Given the description of an element on the screen output the (x, y) to click on. 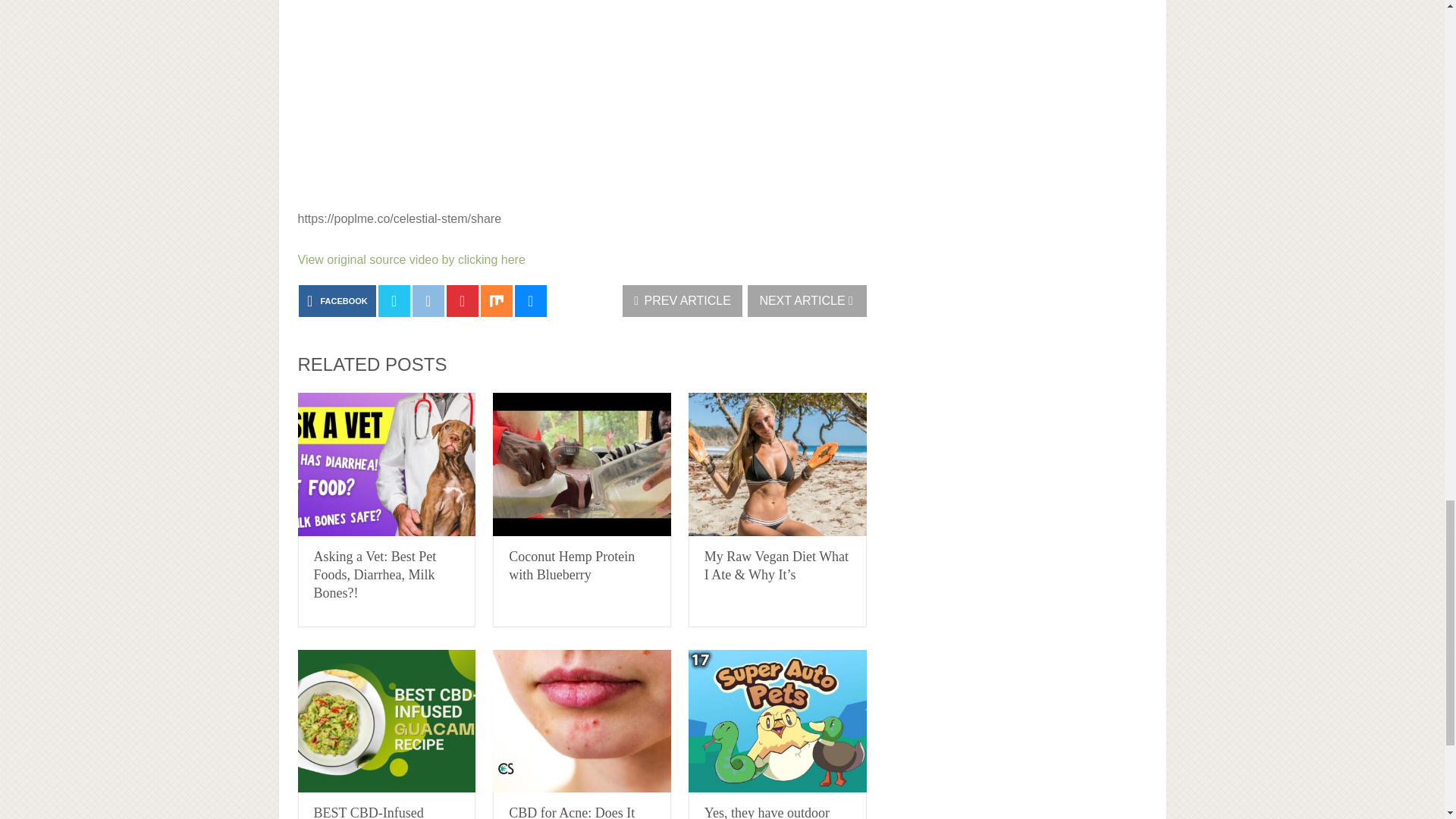
BEST CBD-Infused Guacamole Recipe (368, 812)
View original source video by clicking here (410, 259)
PREV ARTICLE (682, 300)
Coconut Hemp Protein with Blueberry (571, 565)
Asking a Vet: Best Pet Foods, Diarrhea, Milk Bones?! (375, 574)
Asking a Vet: Best Pet Foods, Diarrhea, Milk Bones?! (386, 464)
FACEBOOK (336, 300)
NEXT ARTICLE (807, 300)
Coconut Hemp Protein with Blueberry (582, 464)
Asking a Vet: Best Pet Foods, Diarrhea, Milk Bones?! (375, 574)
